Given the description of an element on the screen output the (x, y) to click on. 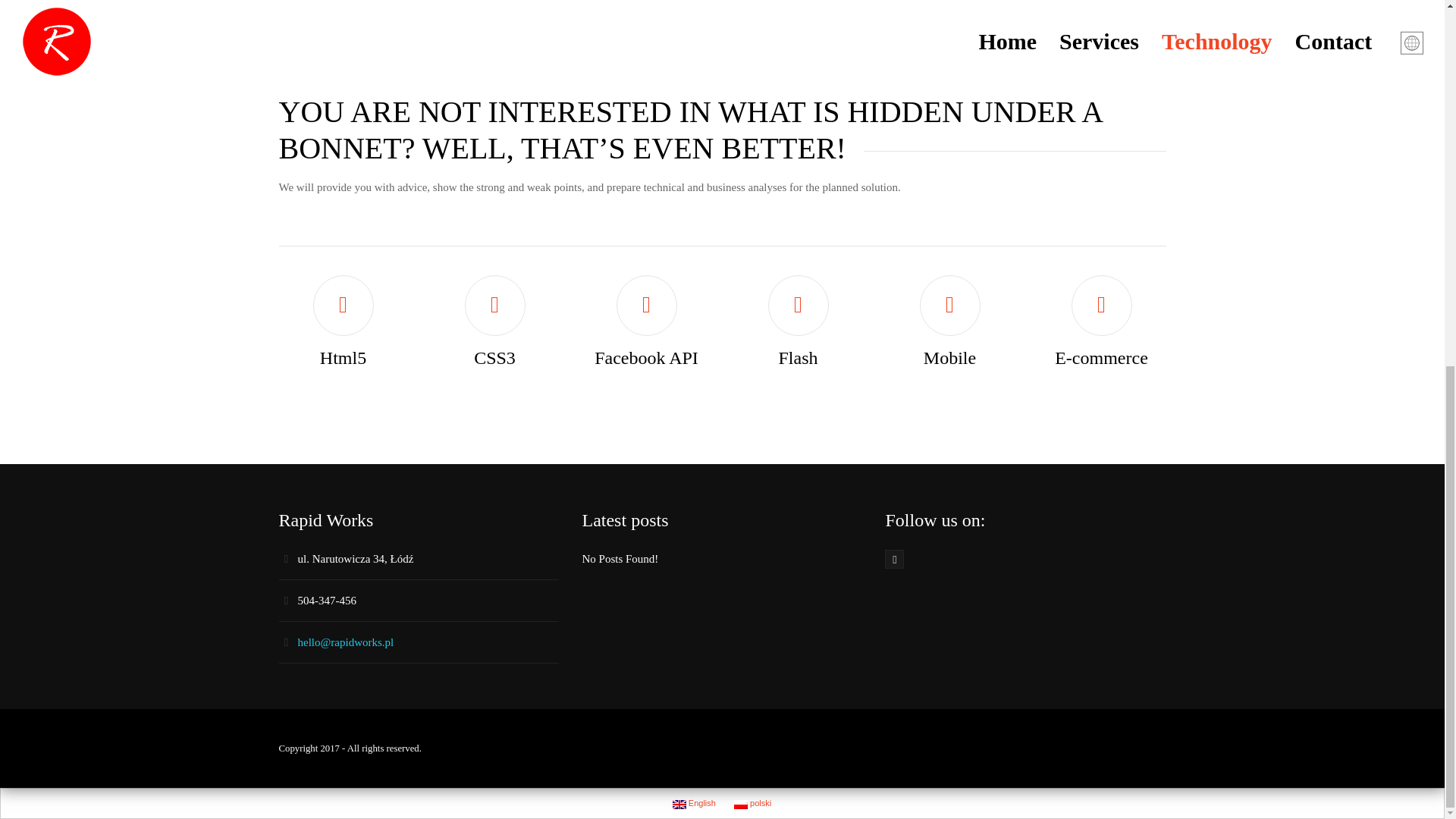
 English (694, 802)
polski (740, 804)
English (678, 804)
 polski (752, 802)
